Given the description of an element on the screen output the (x, y) to click on. 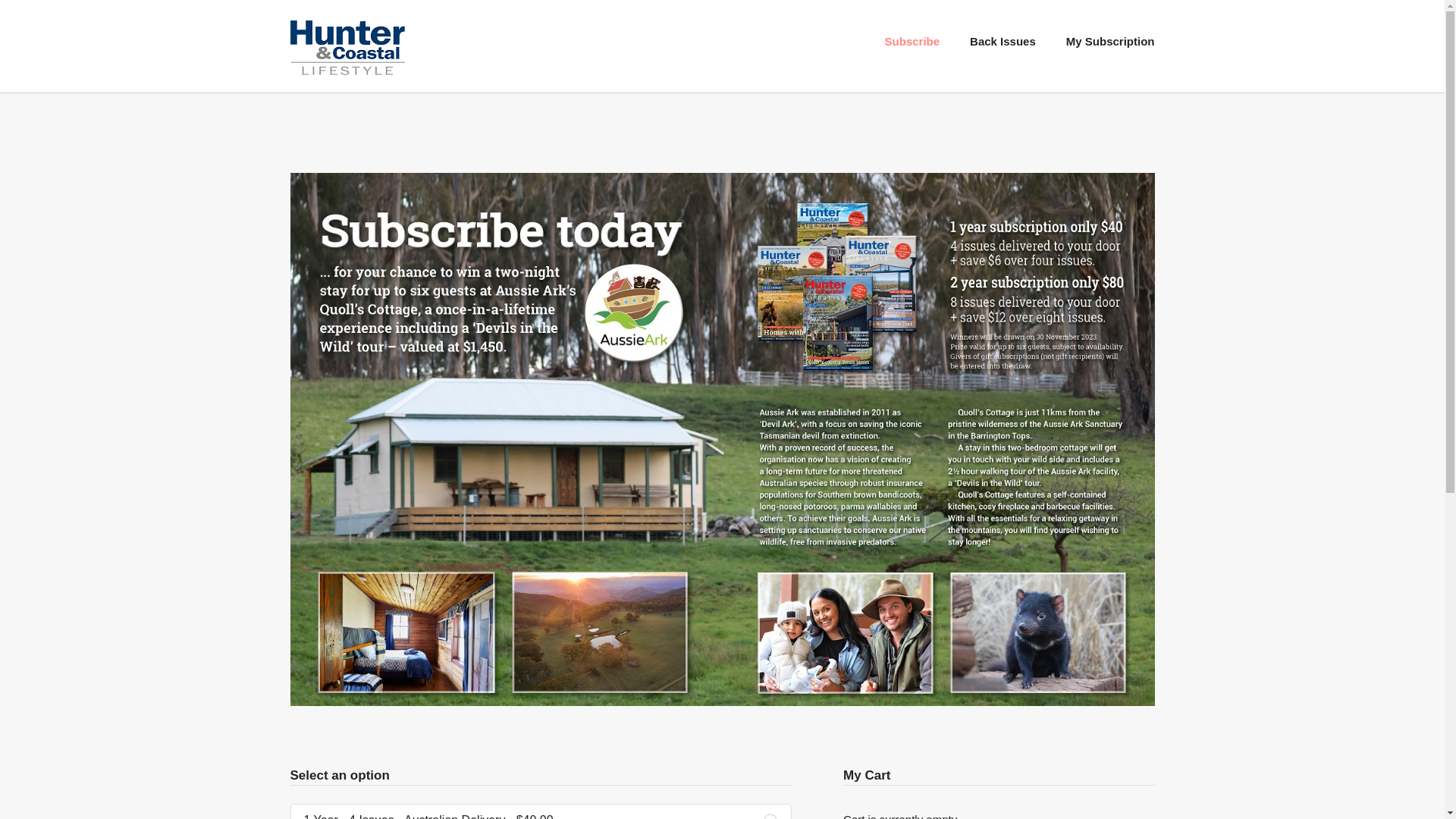
Back Issues Element type: text (1002, 40)
Subscribe Element type: text (912, 40)
My Subscription Element type: text (1110, 40)
